Given the description of an element on the screen output the (x, y) to click on. 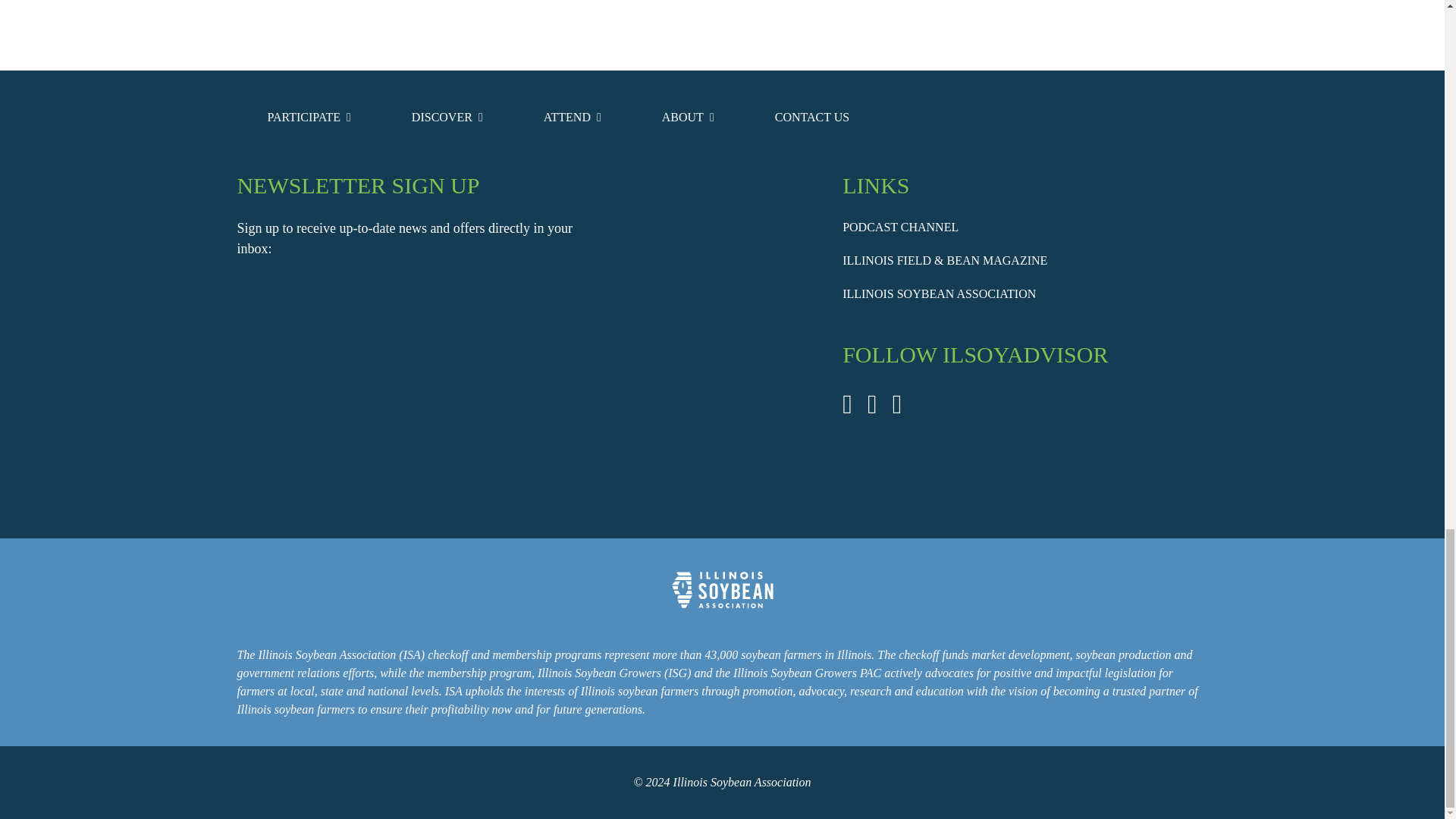
Form 0 (418, 386)
